Given the description of an element on the screen output the (x, y) to click on. 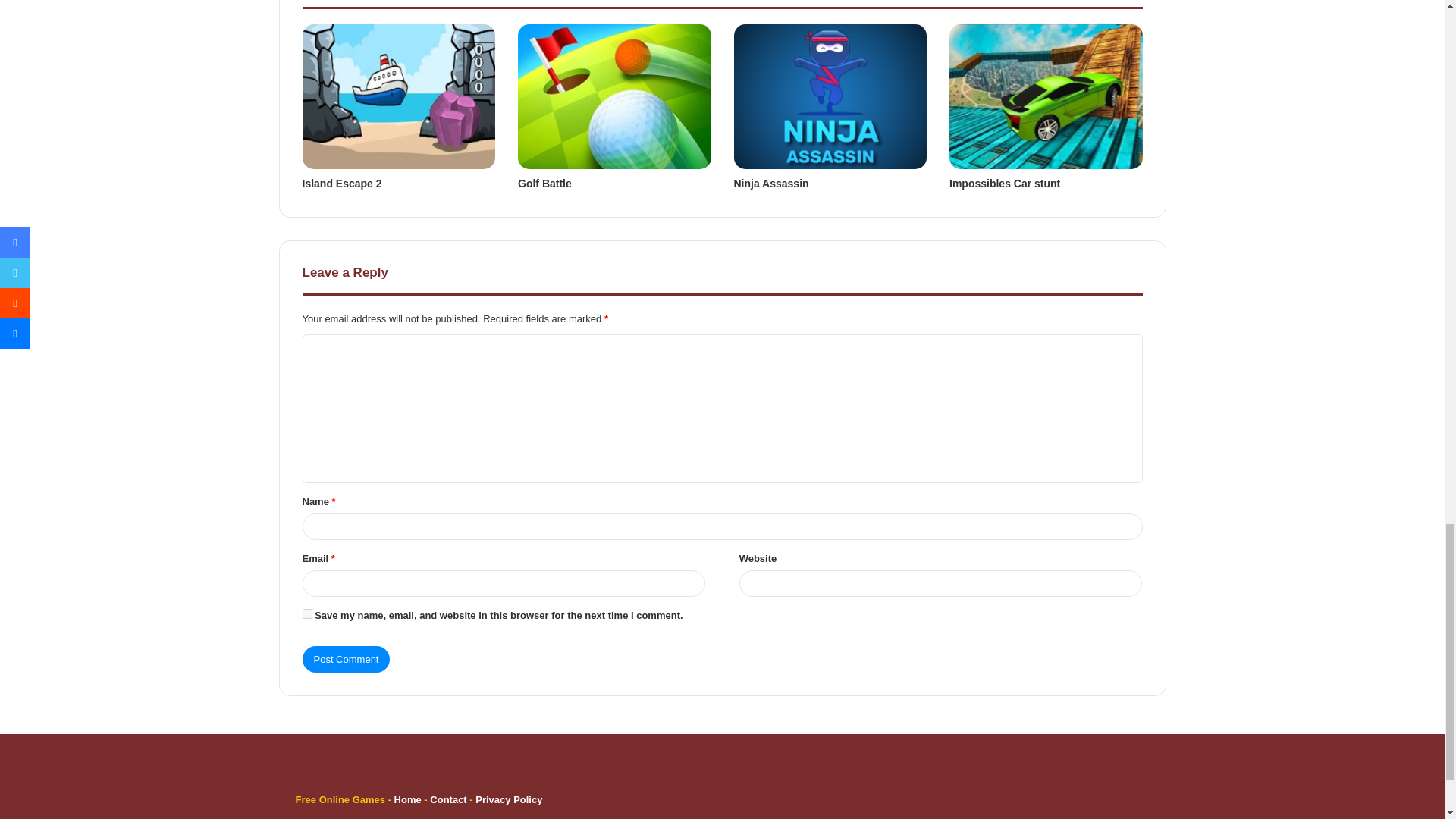
Island Escape 2 (341, 183)
Ninja Assassin (771, 183)
Privacy Policy (508, 799)
yes (306, 614)
Home (408, 799)
Golf Battle (545, 183)
Post Comment (345, 659)
Post Comment (345, 659)
Impossibles Car stunt (1004, 183)
Contact (448, 799)
